Given the description of an element on the screen output the (x, y) to click on. 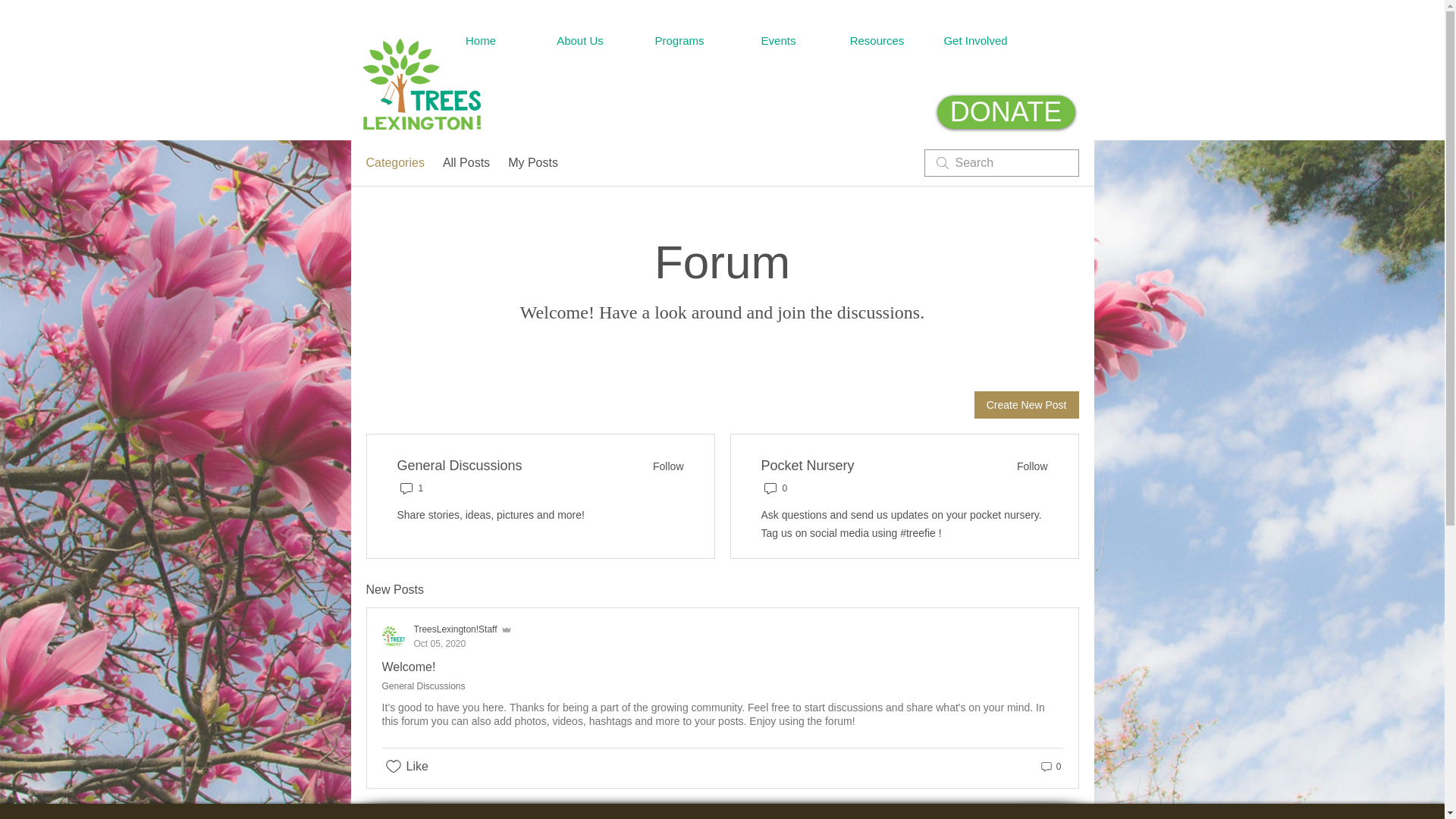
My Posts (532, 162)
Pocket Nursery (807, 465)
All Posts (465, 162)
Categories (394, 162)
0 (1050, 766)
Follow (662, 465)
Resources (877, 40)
General Discussions (459, 465)
Follow (1026, 465)
Programs (678, 40)
Events (778, 40)
Welcome! (408, 666)
DONATE (446, 636)
Get Involved (1006, 111)
